Given the description of an element on the screen output the (x, y) to click on. 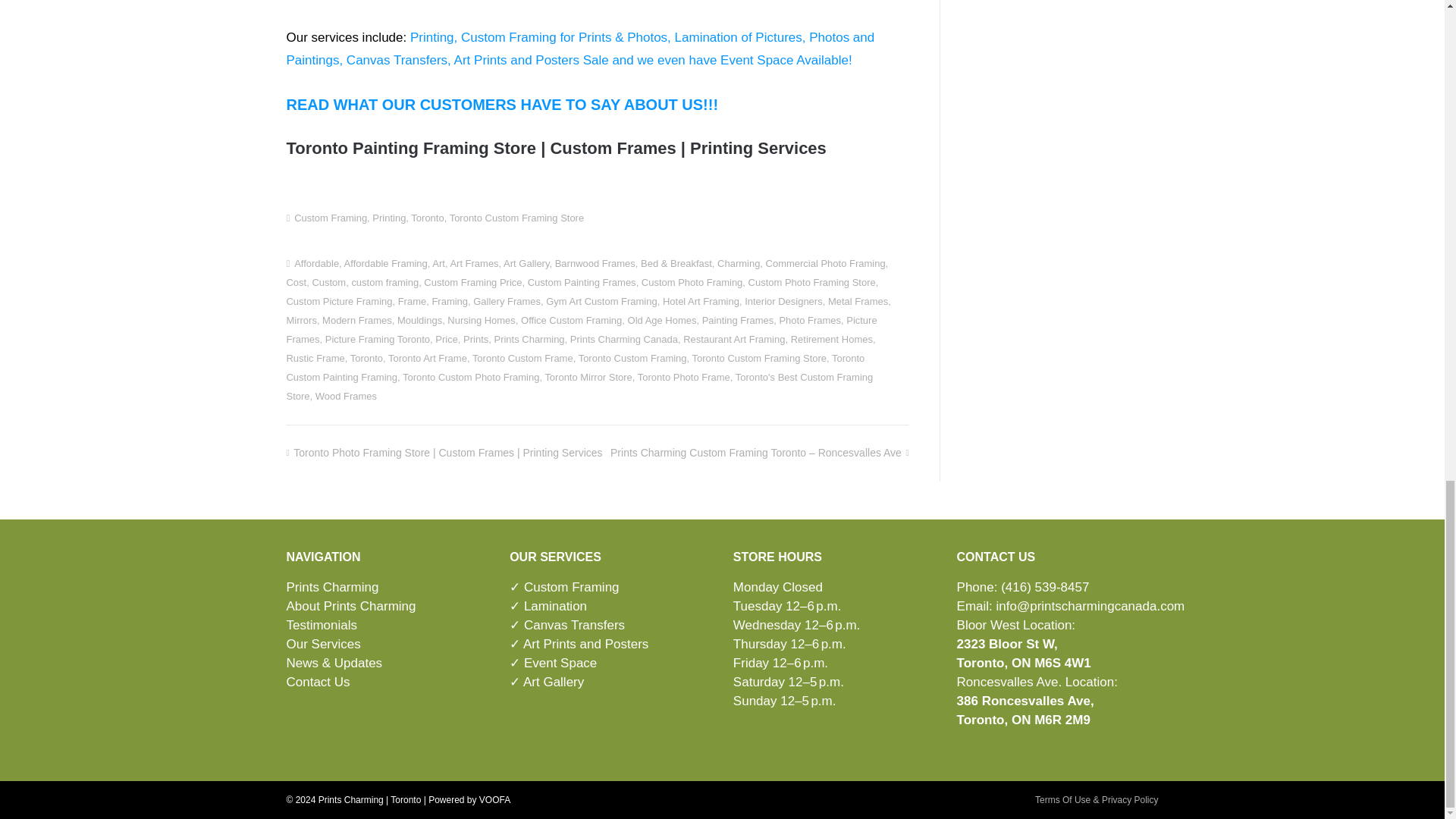
Toronto (427, 217)
Barnwood Frames (594, 263)
Charming (738, 263)
custom framing (384, 282)
Toronto Custom Framing Store (517, 217)
Printing (389, 217)
Custom Painting Frames (581, 282)
Art Frames (473, 263)
Cost (295, 282)
Commercial Photo Framing (825, 263)
Affordable (316, 263)
Affordable Framing (385, 263)
Art (438, 263)
Custom (328, 282)
READ WHAT OUR CUSTOMERS HAVE TO SAY ABOUT US!!! (501, 104)
